Given the description of an element on the screen output the (x, y) to click on. 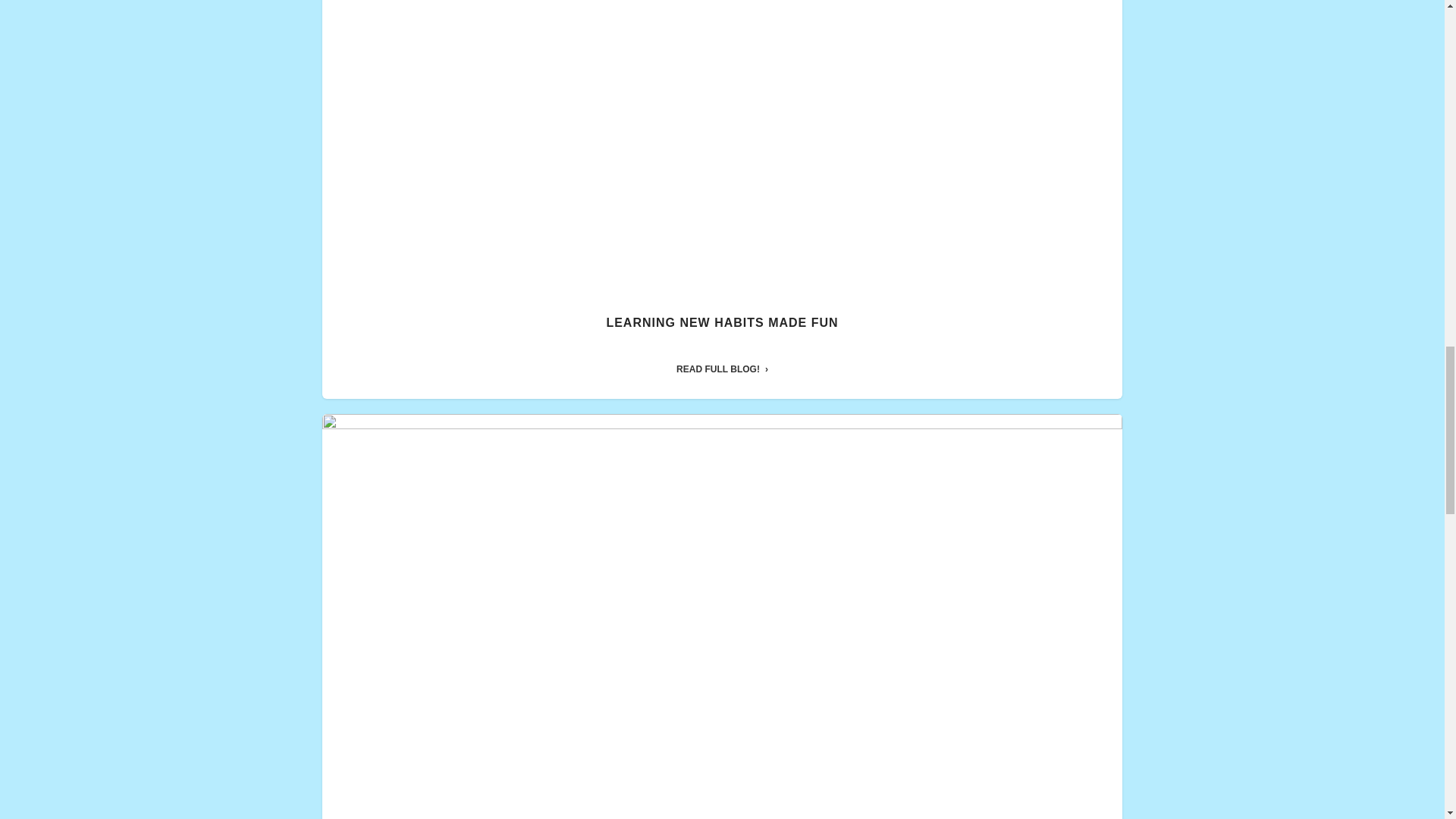
Learning New Habits Made Fun (721, 322)
READ FULL BLOG! (722, 368)
LEARNING NEW HABITS MADE FUN (721, 322)
